Given the description of an element on the screen output the (x, y) to click on. 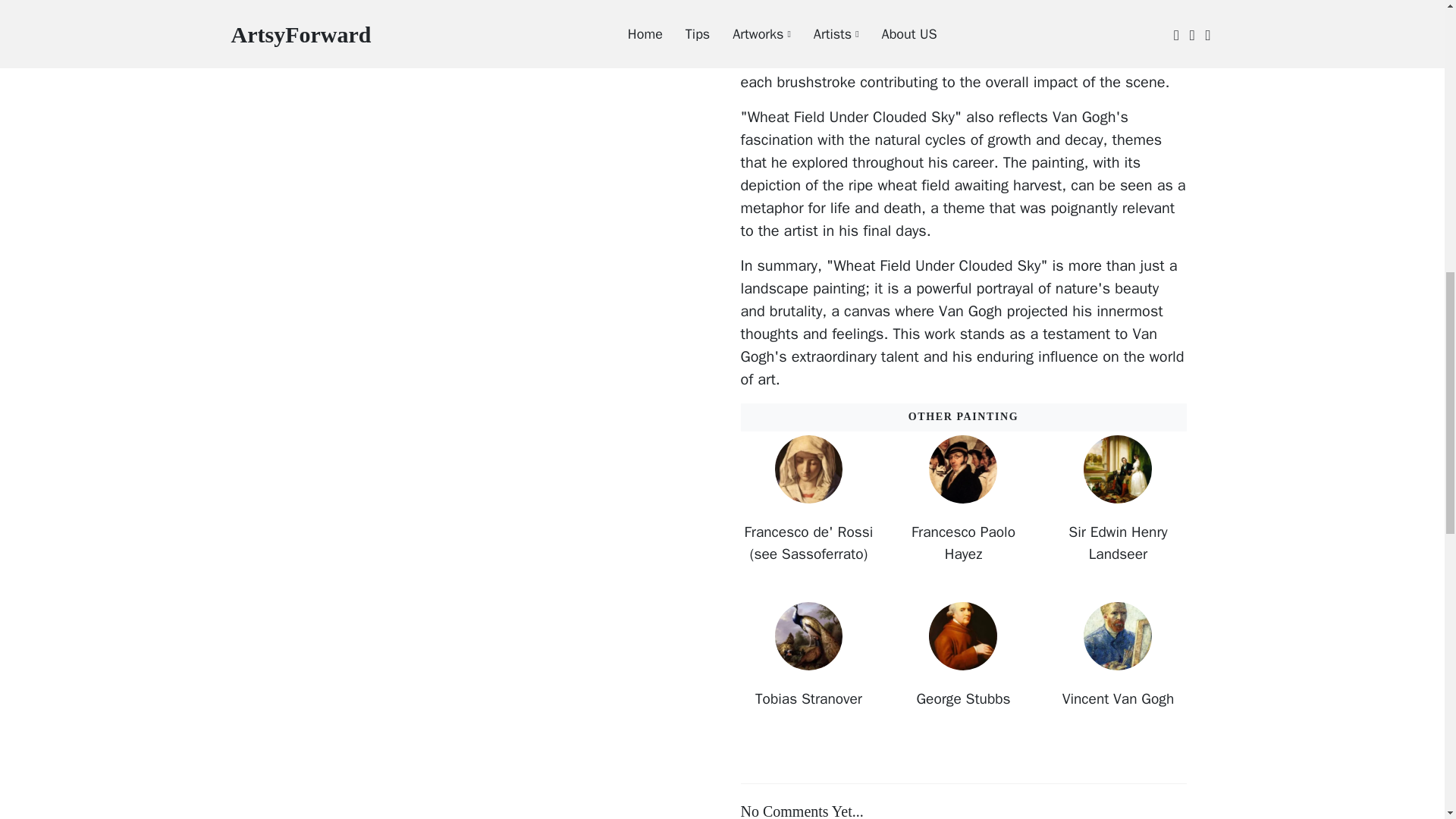
George Stubbs (962, 699)
Francesco Paolo Hayez (962, 543)
Sir Edwin Henry Landseer (1117, 543)
Tobias Stranover (807, 699)
Vincent Van Gogh (1117, 699)
